Given the description of an element on the screen output the (x, y) to click on. 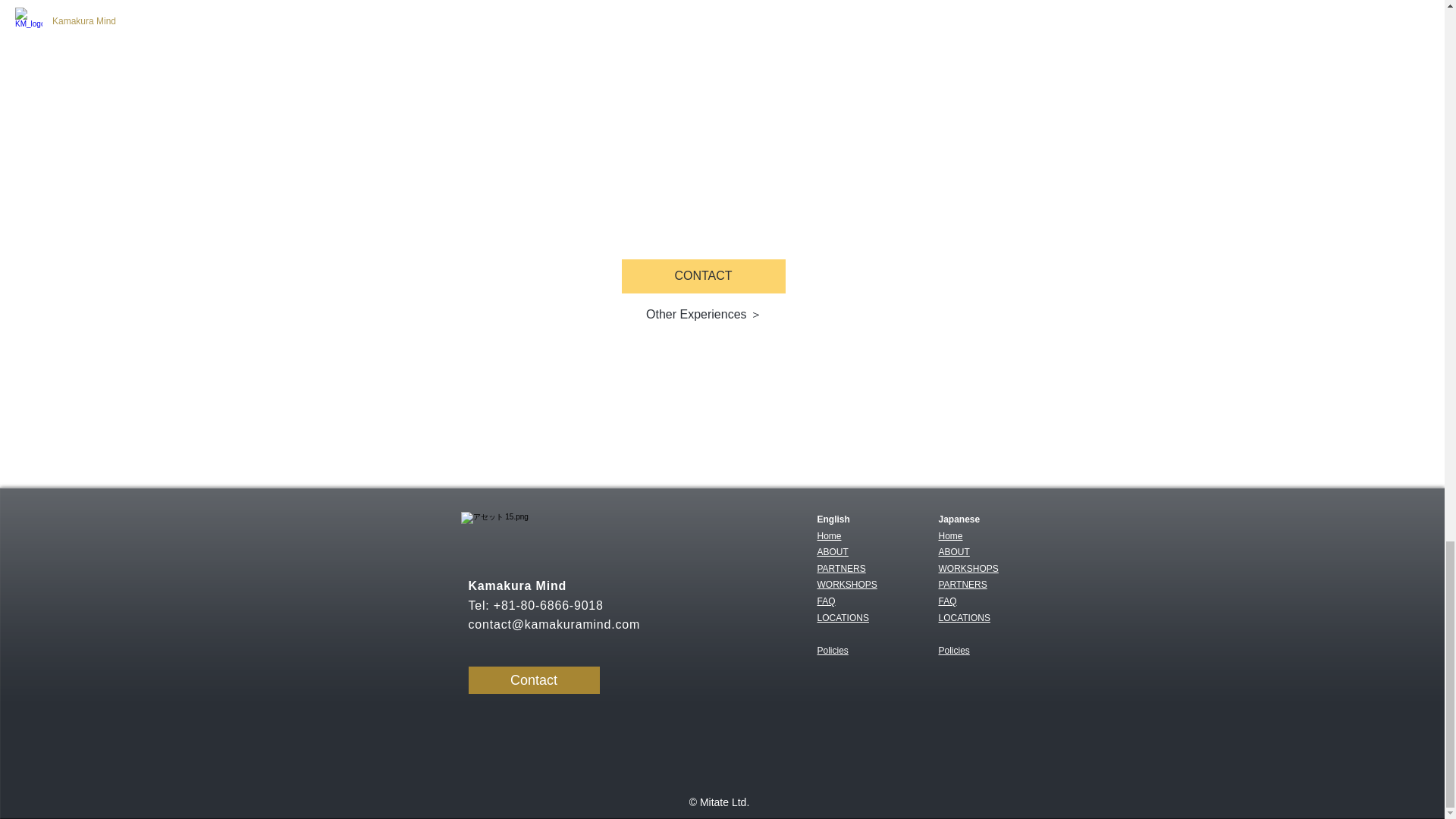
Contact (533, 679)
CONTACT (703, 276)
Home (828, 535)
Policies (954, 658)
PARTNERS (841, 568)
ABOUT (954, 552)
FAQ (947, 601)
PARTNERS (963, 584)
LOCATIONS (964, 617)
Home (959, 543)
